Given the description of an element on the screen output the (x, y) to click on. 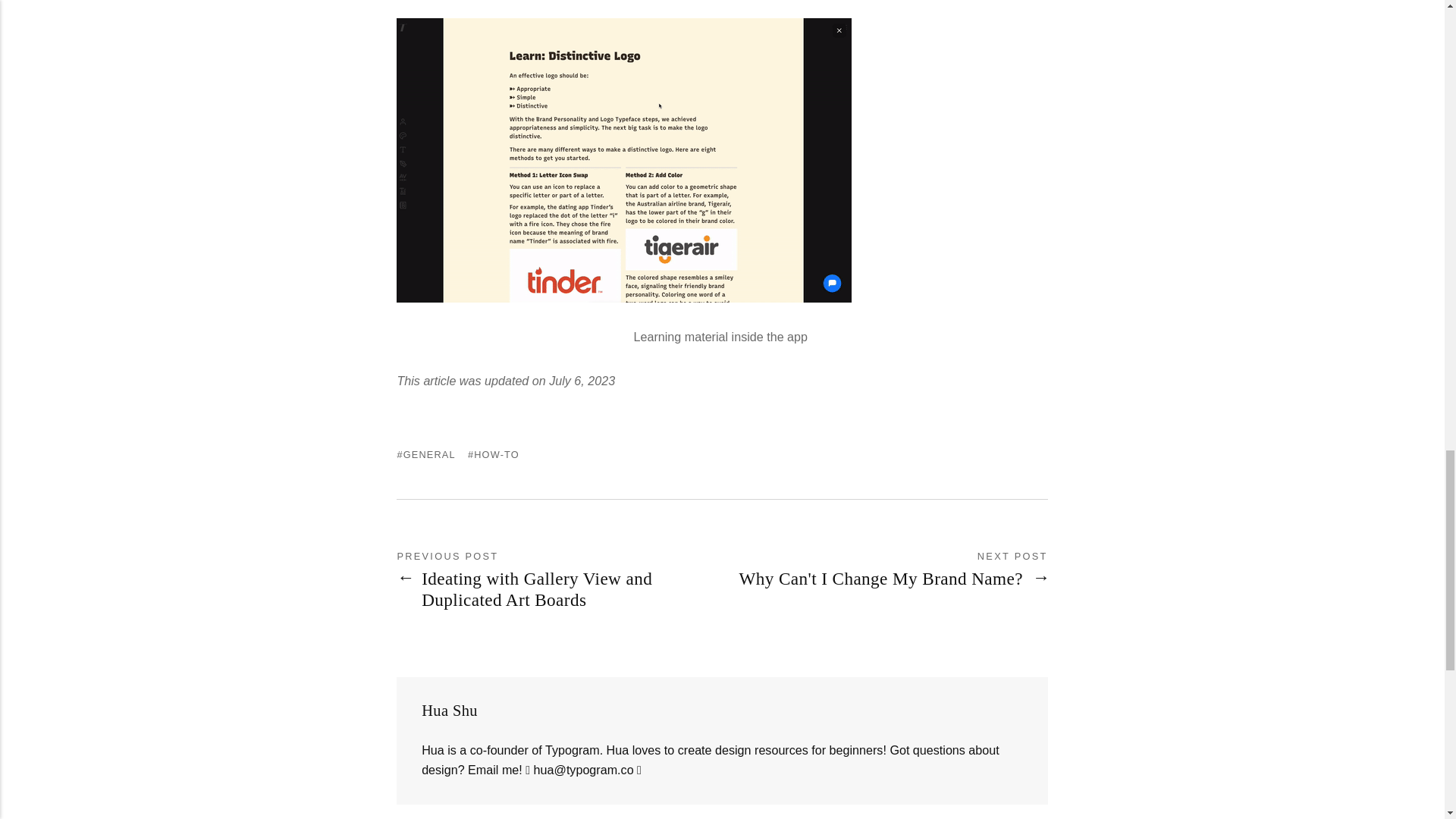
HOW-TO (493, 454)
Hua Shu (449, 710)
Ideating with Gallery View and Duplicated Art Boards (559, 589)
GENERAL (425, 454)
Why Can't I Change My Brand Name? (892, 578)
Hua Shu (449, 710)
